Given the description of an element on the screen output the (x, y) to click on. 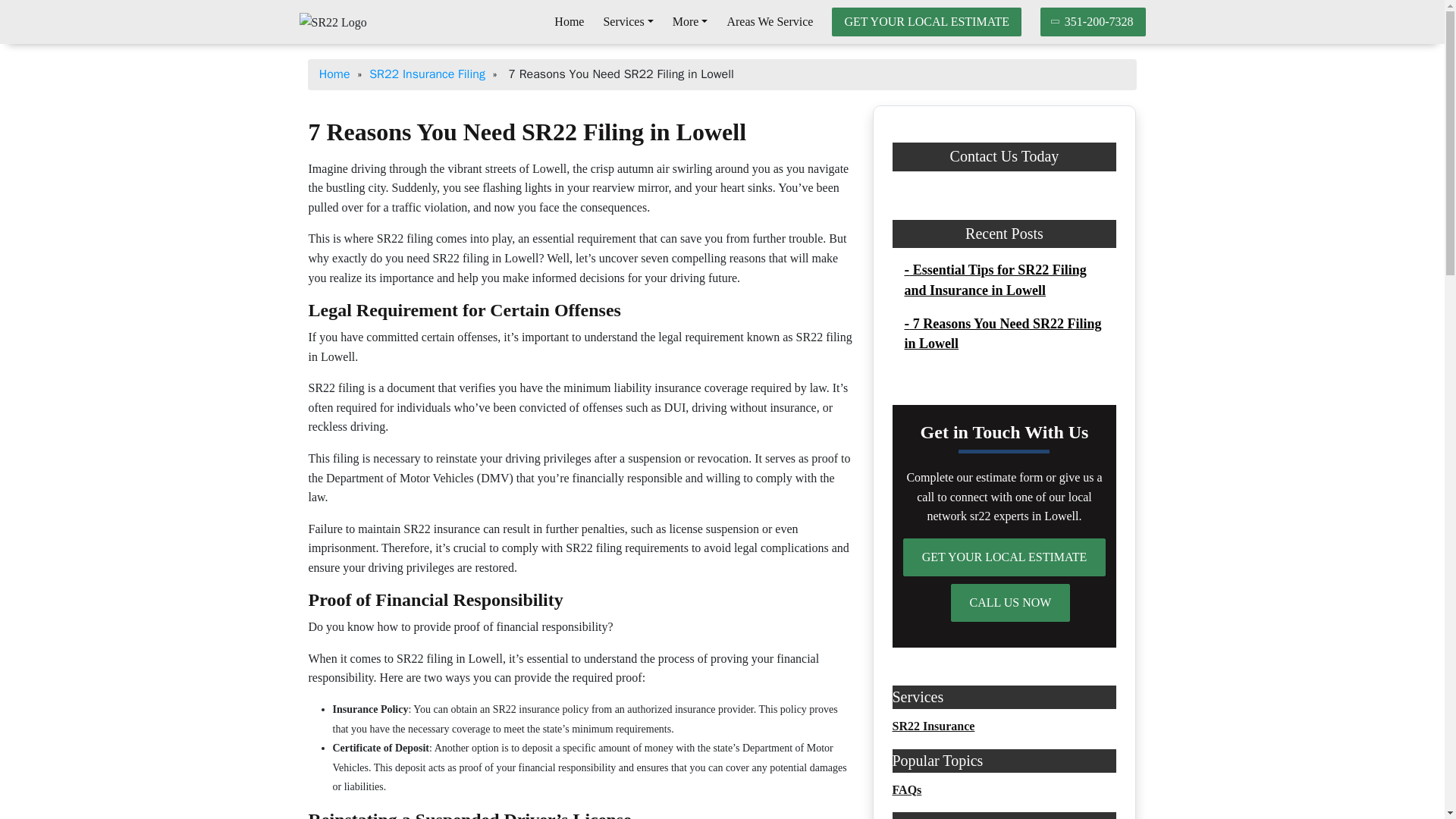
Services (627, 21)
More (689, 21)
- 7 Reasons You Need SR22 Filing in Lowell (1002, 334)
GET YOUR LOCAL ESTIMATE (1004, 557)
Areas We Service (769, 21)
Areas We Service (769, 21)
Home (568, 21)
GET YOUR LOCAL ESTIMATE (926, 21)
FAQs (906, 788)
CALL US NOW (1010, 602)
351-200-7328 (1093, 21)
- Essential Tips for SR22 Filing and Insurance in Lowell (995, 280)
Services (627, 21)
Home (568, 21)
SR22 Insurance (932, 725)
